Given the description of an element on the screen output the (x, y) to click on. 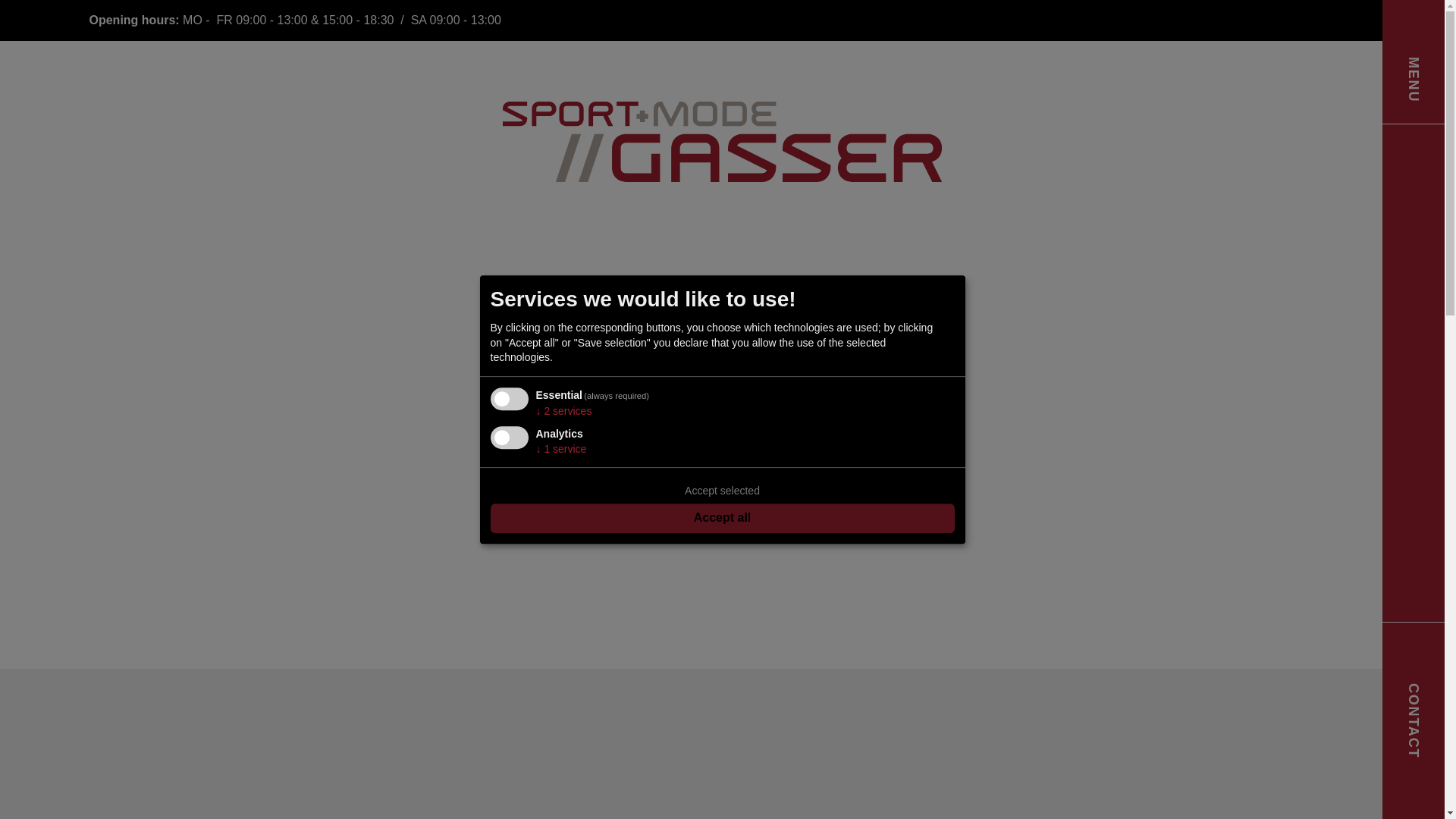
Logo (721, 141)
This services is always required (615, 395)
